Given the description of an element on the screen output the (x, y) to click on. 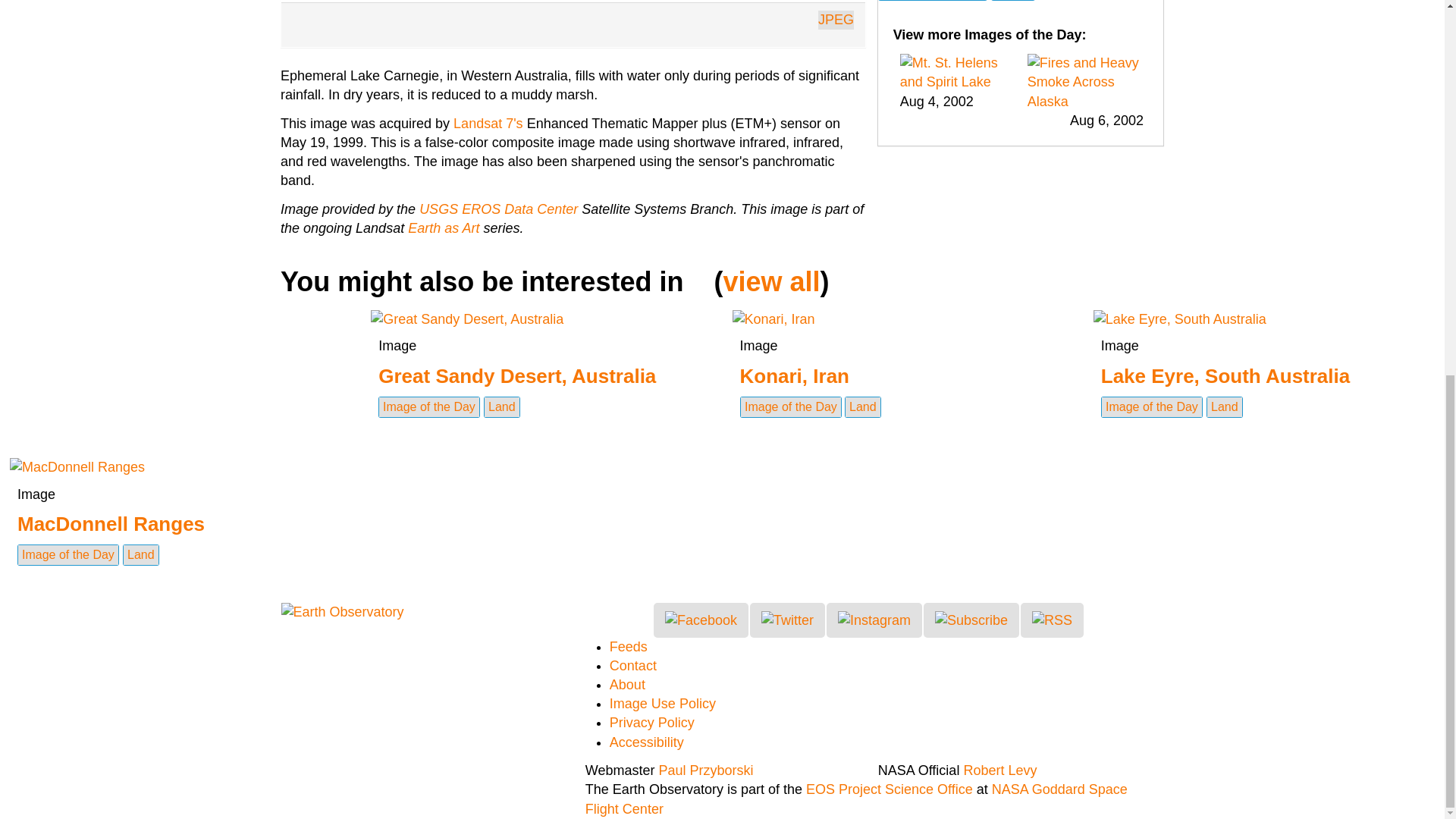
Earth Observatory (342, 611)
Facebook (700, 620)
RSS (1051, 620)
Twitter (787, 620)
Subscribe (971, 620)
Instagram (874, 620)
